Given the description of an element on the screen output the (x, y) to click on. 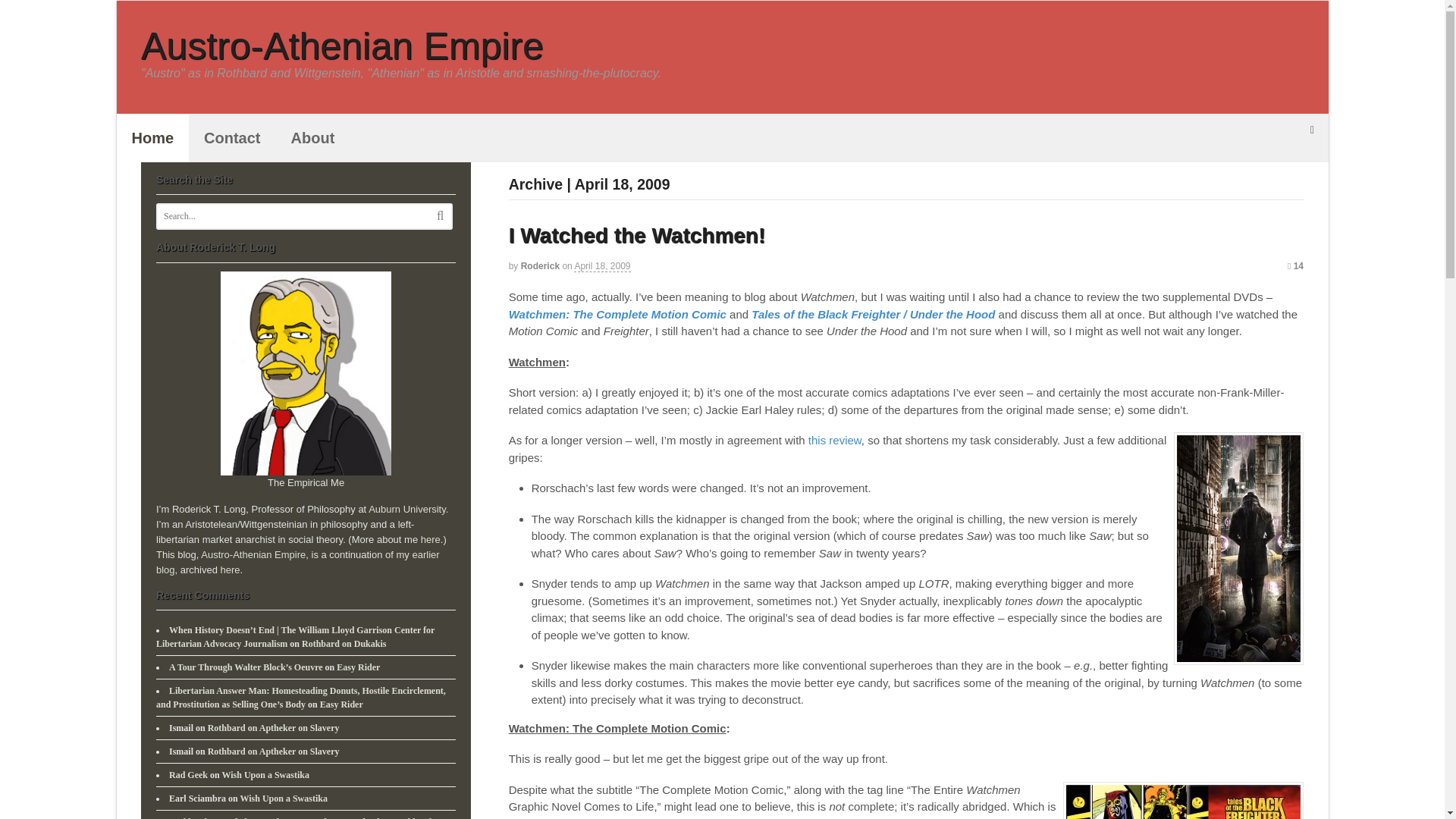
Roderick (540, 266)
Austro-Athenian Empire (342, 46)
Search... (288, 216)
Wish Upon a Swastika (264, 774)
About (313, 137)
Austro-Athenian Empire (252, 554)
Rad Geek (188, 774)
Rothbard on Aptheker on Slavery (273, 751)
Watchmen: The Complete Motion Comic (617, 314)
here (230, 569)
I Watched the Watchmen! (636, 235)
Rothbard on Dukakis (343, 643)
Easy Rider (341, 704)
this review (834, 440)
I Watched the Watchmen! (636, 235)
